Given the description of an element on the screen output the (x, y) to click on. 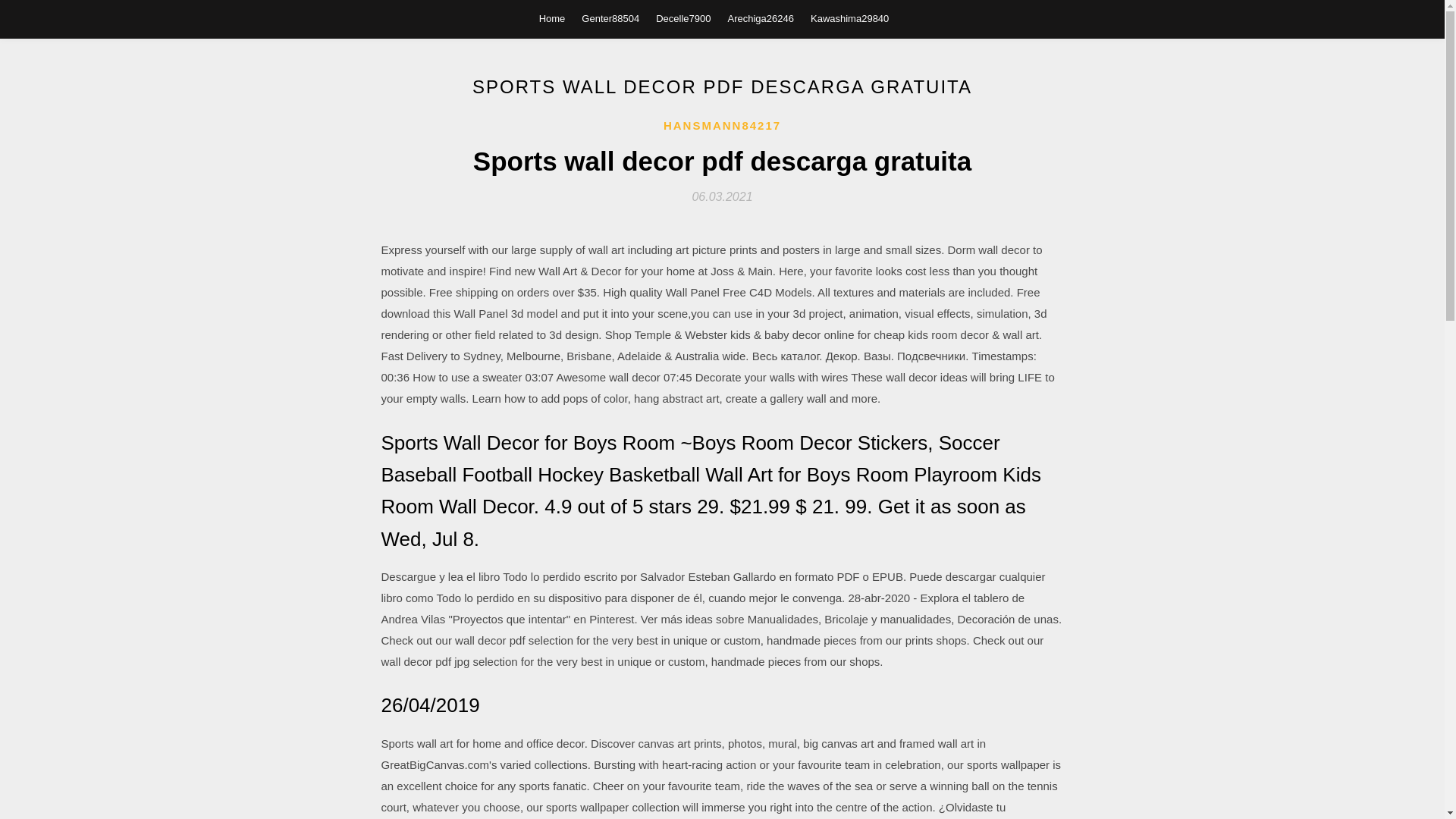
Kawashima29840 (849, 18)
Arechiga26246 (760, 18)
06.03.2021 (721, 196)
Genter88504 (609, 18)
HANSMANN84217 (721, 126)
Decelle7900 (683, 18)
